Given the description of an element on the screen output the (x, y) to click on. 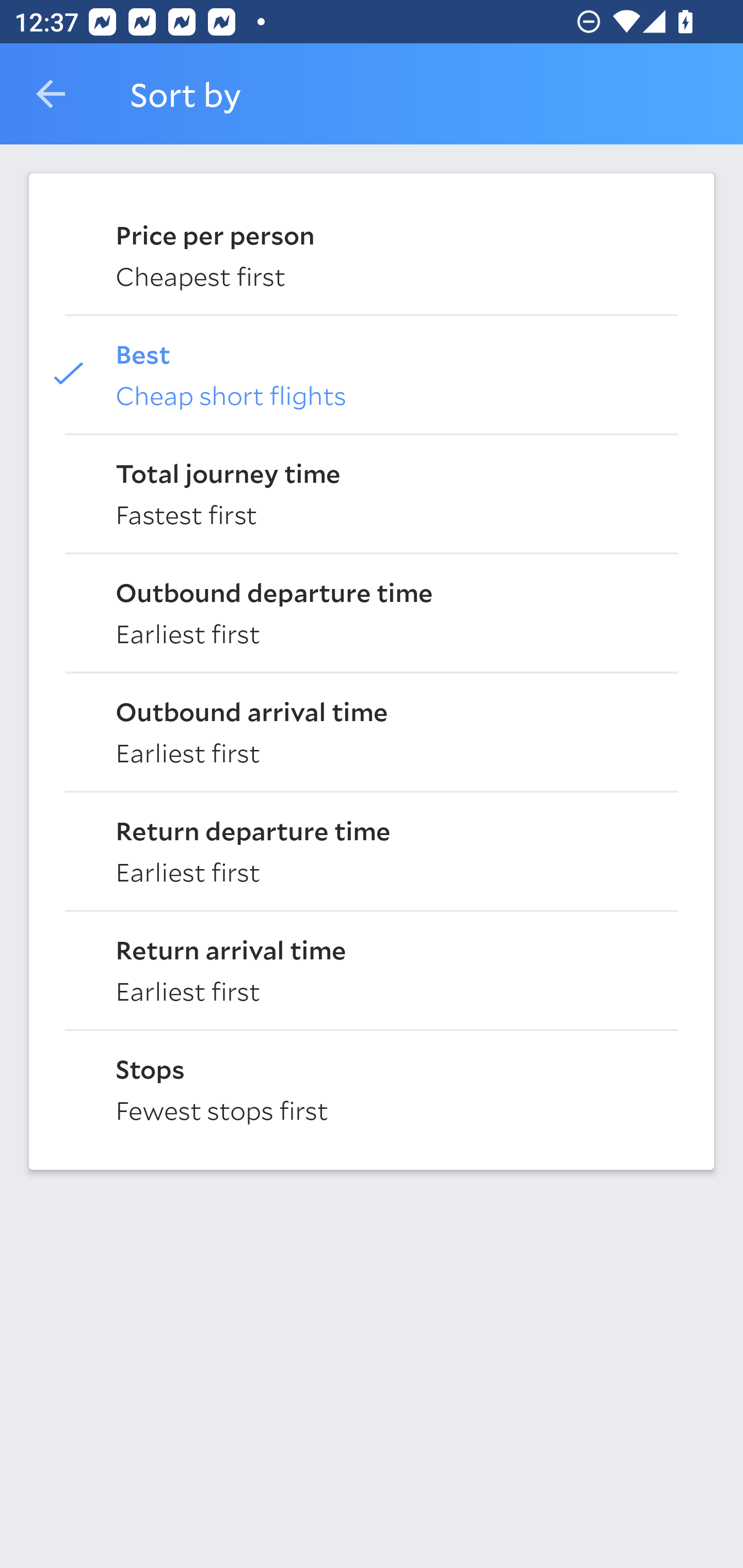
Navigate up (50, 93)
Price per person Cheapest first (371, 253)
Best Cheap short flights (371, 372)
Total journey time Fastest first (371, 491)
Outbound departure time Earliest first (371, 611)
Outbound arrival time Earliest first (371, 730)
Return departure time Earliest first (371, 849)
Return arrival time Earliest first (371, 968)
Stops Fewest stops first (371, 1087)
